Given the description of an element on the screen output the (x, y) to click on. 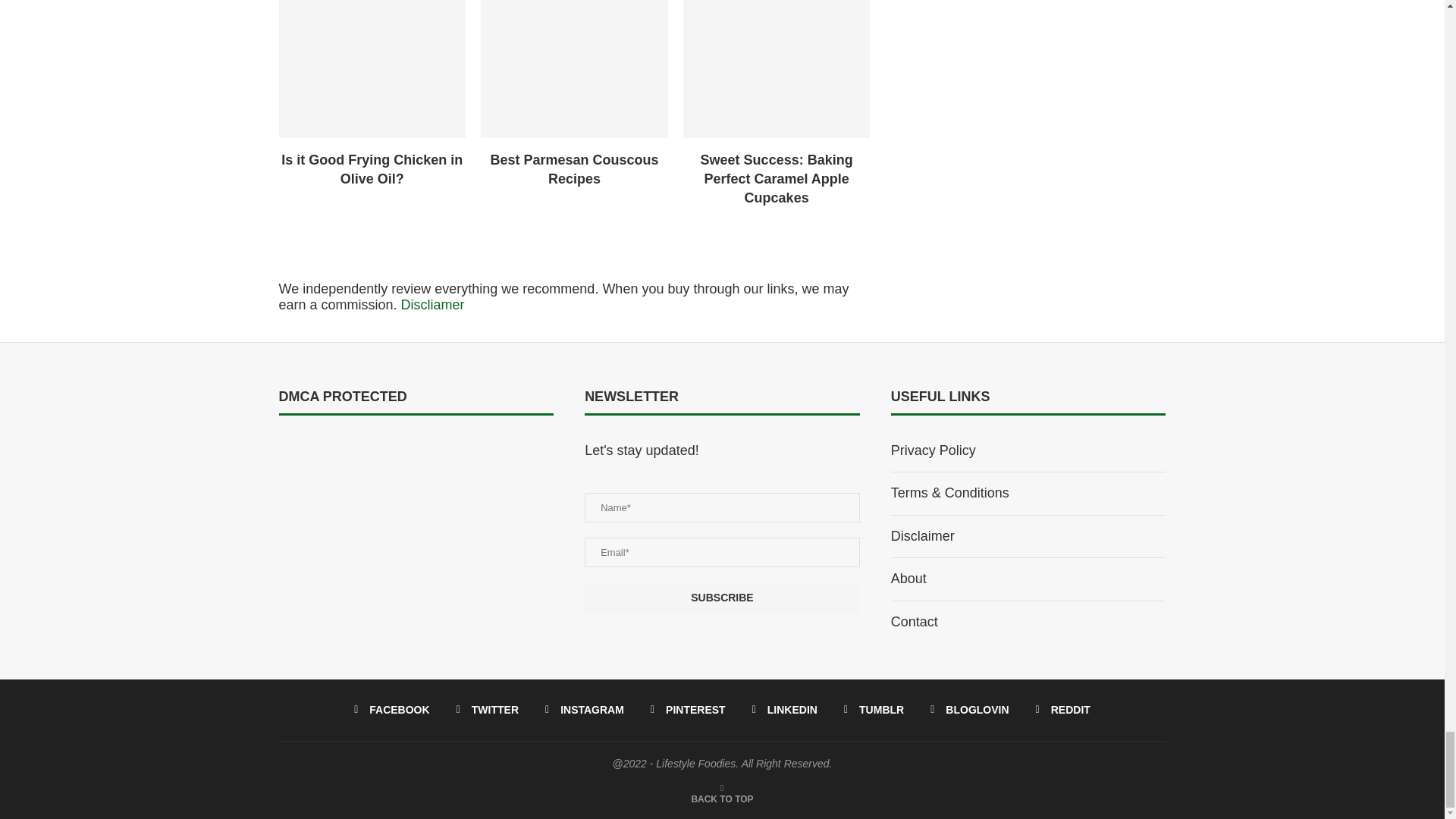
Subscribe (722, 597)
